Given the description of an element on the screen output the (x, y) to click on. 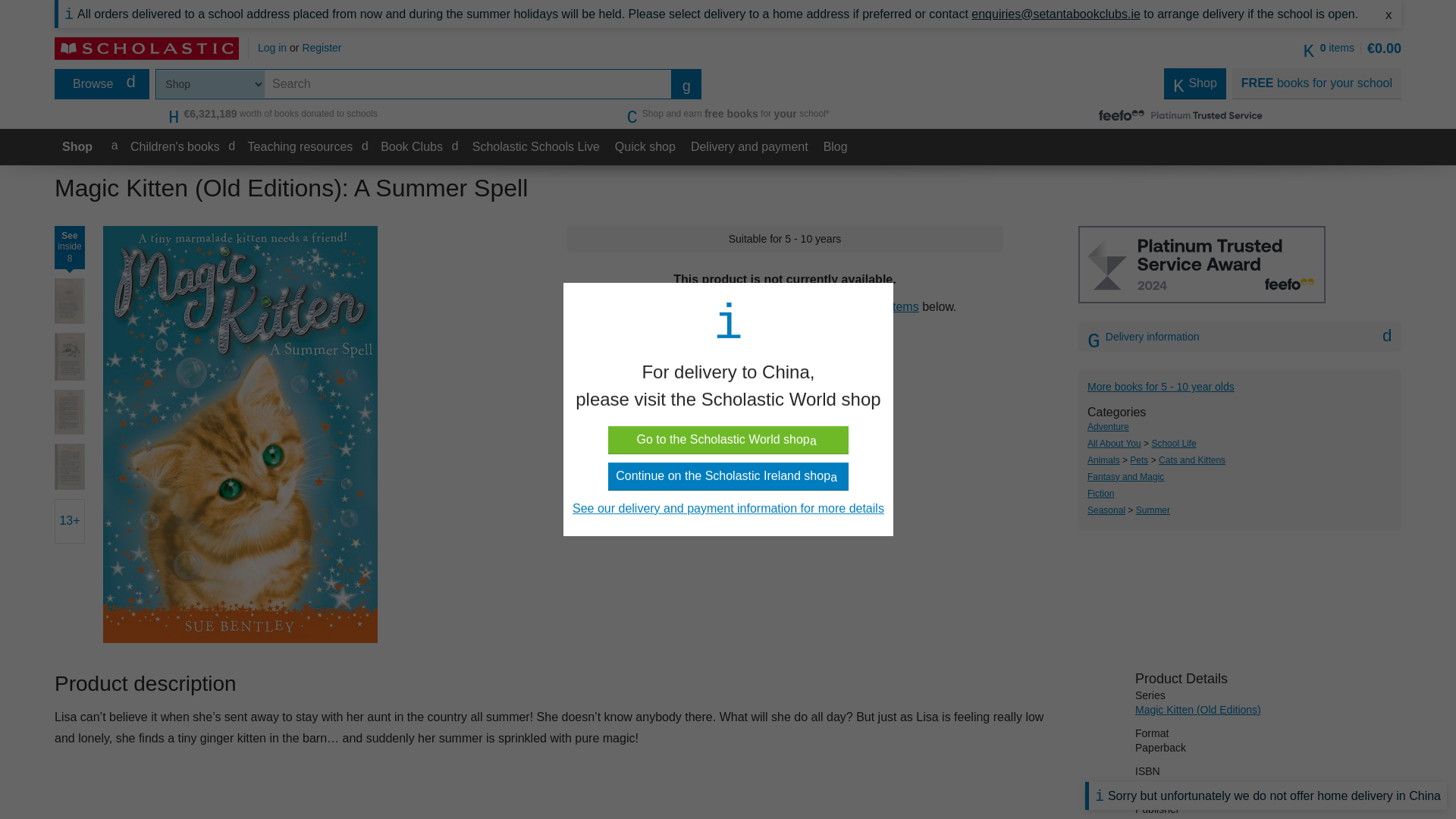
Shop (1194, 82)
FREE books for your school (1315, 82)
Children's books (182, 146)
Shop (77, 146)
Log in (271, 47)
Register (320, 47)
Search (686, 83)
